Given the description of an element on the screen output the (x, y) to click on. 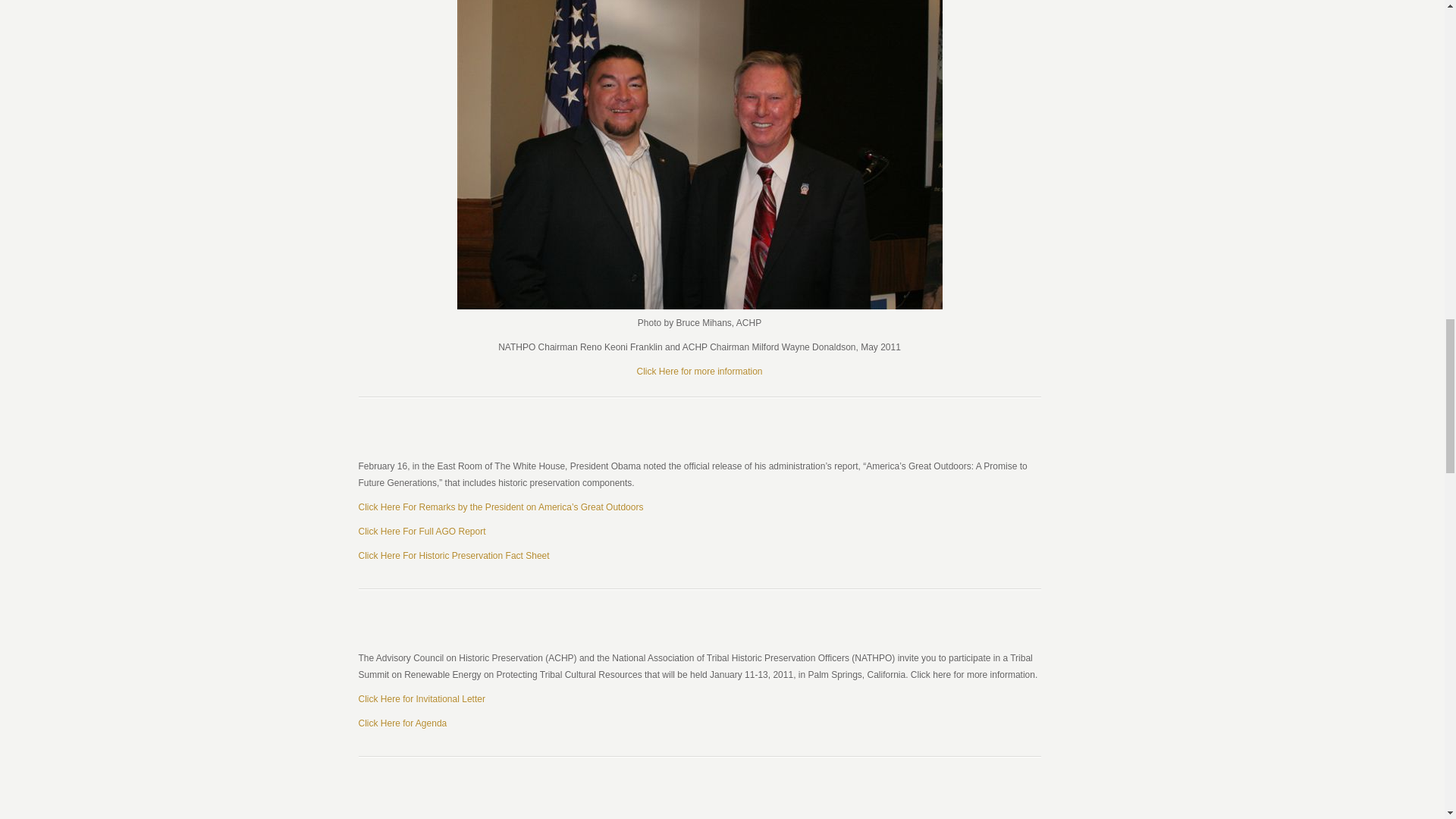
Click Here for Agenda (402, 723)
Click Here for more information (698, 371)
Click Here for Invitational Letter (421, 698)
Click Here For Full AGO Report (421, 531)
Click Here For Historic Preservation Fact Sheet (453, 555)
